Given the description of an element on the screen output the (x, y) to click on. 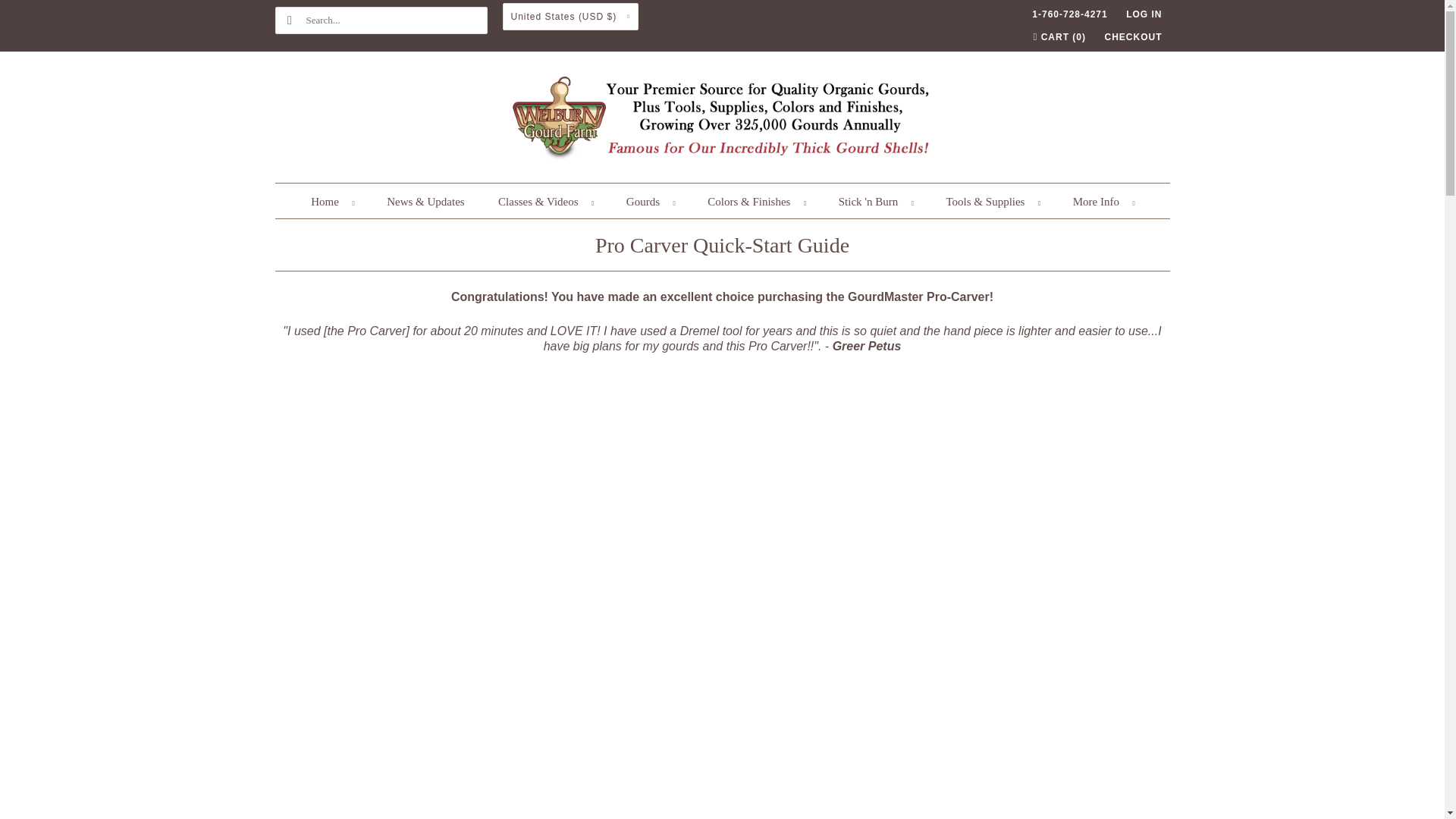
Welburn Gourd Farm (722, 120)
